Given the description of an element on the screen output the (x, y) to click on. 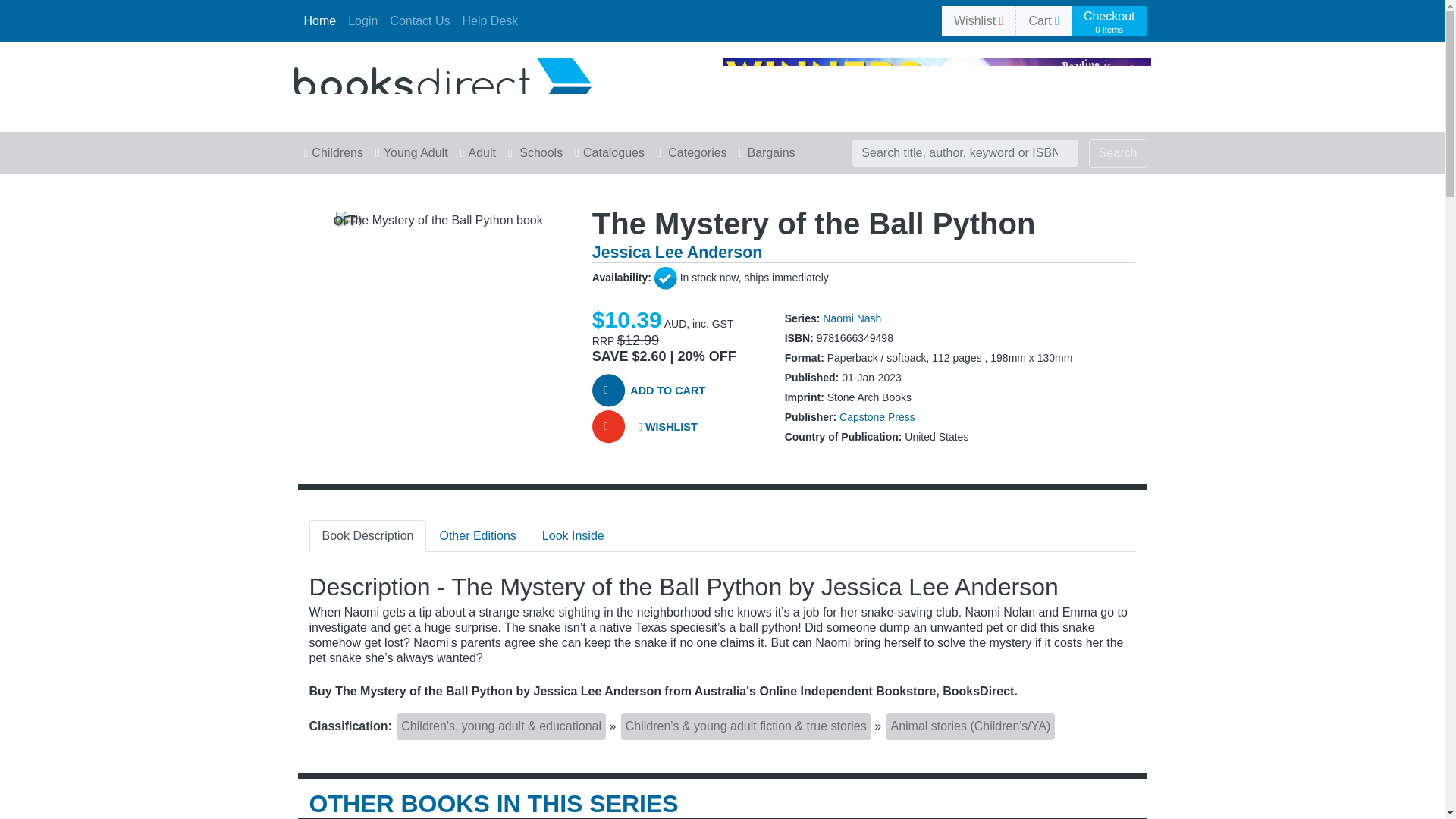
BooksDirect (442, 83)
Login (363, 20)
Help Desk (489, 20)
Cart (1043, 20)
Contact Us (419, 20)
Add this book to your wishlist (665, 427)
Add this book to your cart (665, 391)
Wishlist (978, 20)
